Given the description of an element on the screen output the (x, y) to click on. 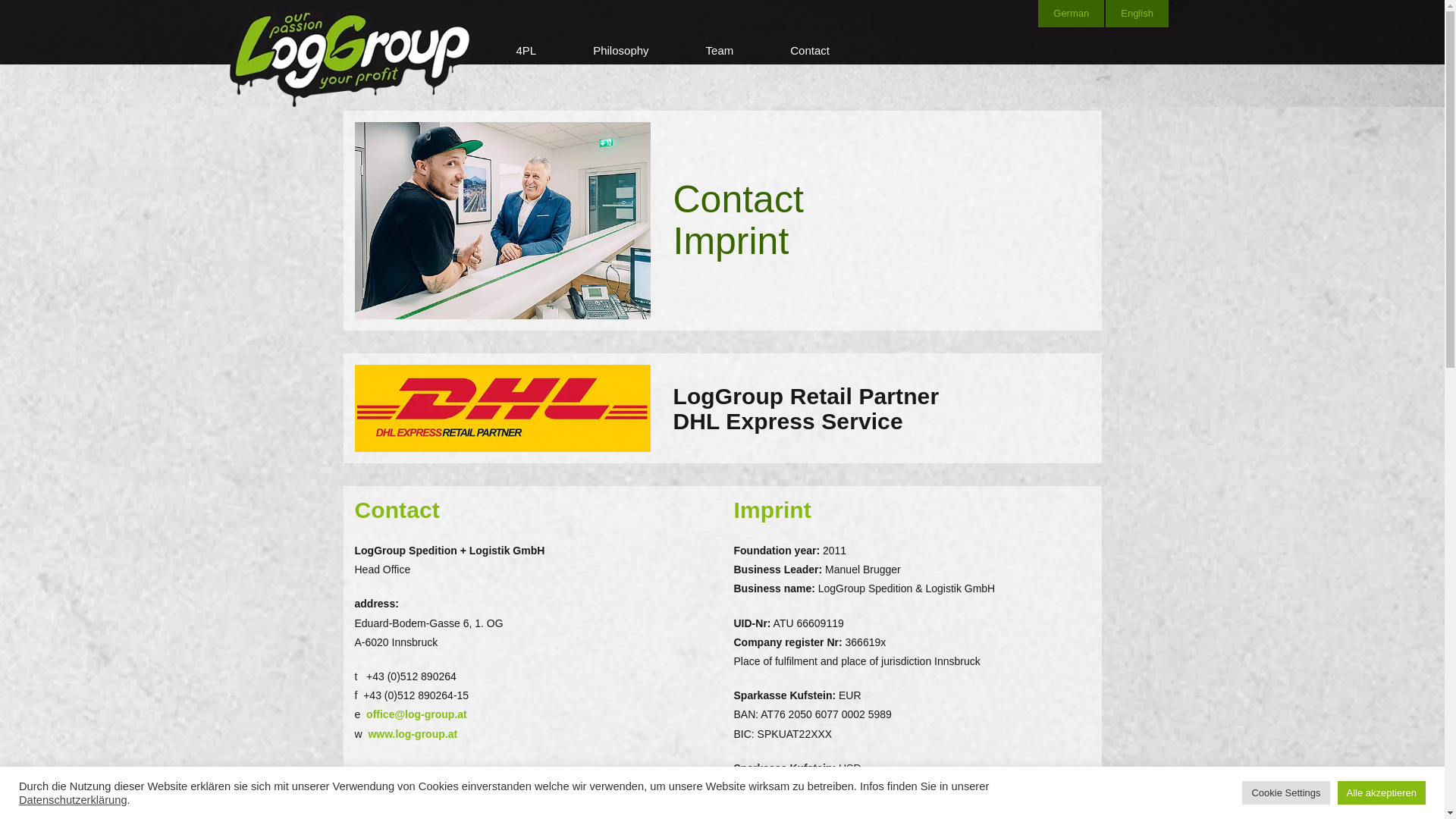
Contact (810, 50)
4PL (525, 50)
Cookie Settings (1285, 792)
Alle akzeptieren (1382, 792)
German (1070, 13)
Philosophy (620, 50)
English (1137, 13)
www.log-group.at (412, 734)
Team (719, 50)
